Given the description of an element on the screen output the (x, y) to click on. 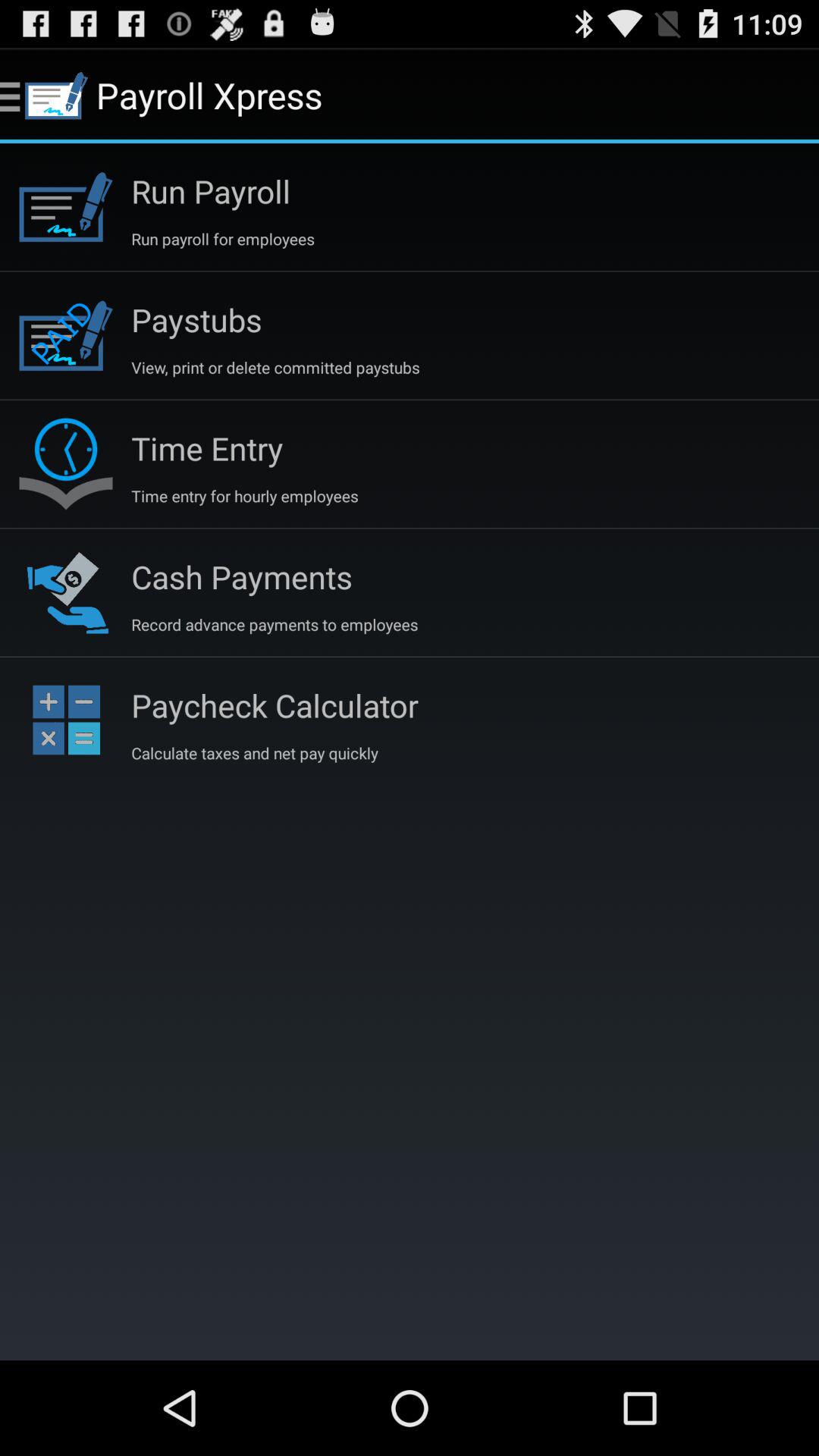
launch app below the paycheck calculator app (254, 752)
